Given the description of an element on the screen output the (x, y) to click on. 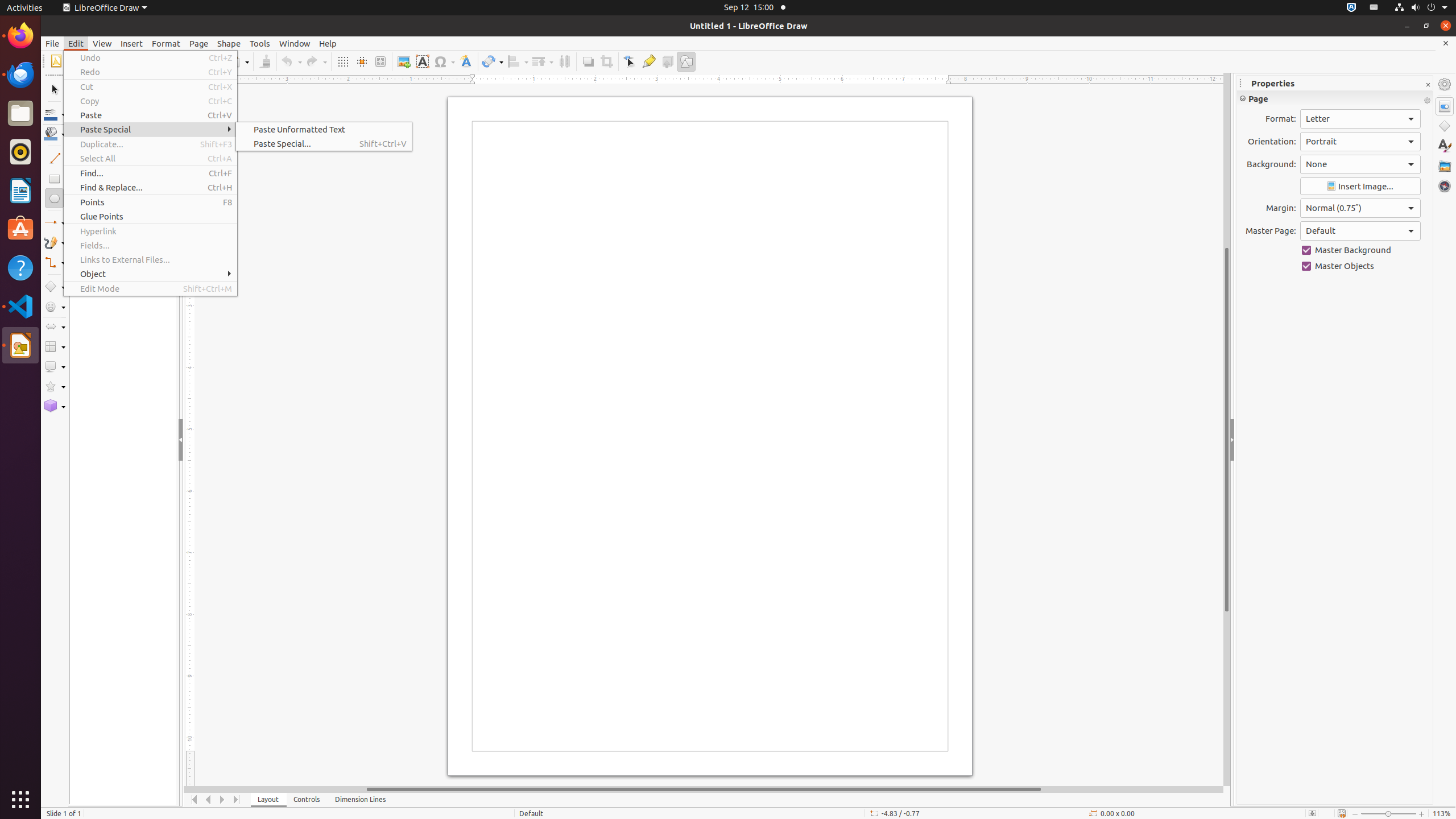
Insert Element type: menu (131, 43)
Find... Element type: menu-item (150, 173)
Points Element type: check-menu-item (150, 202)
Shape Element type: menu (228, 43)
Edit Mode Element type: menu-item (150, 288)
